Given the description of an element on the screen output the (x, y) to click on. 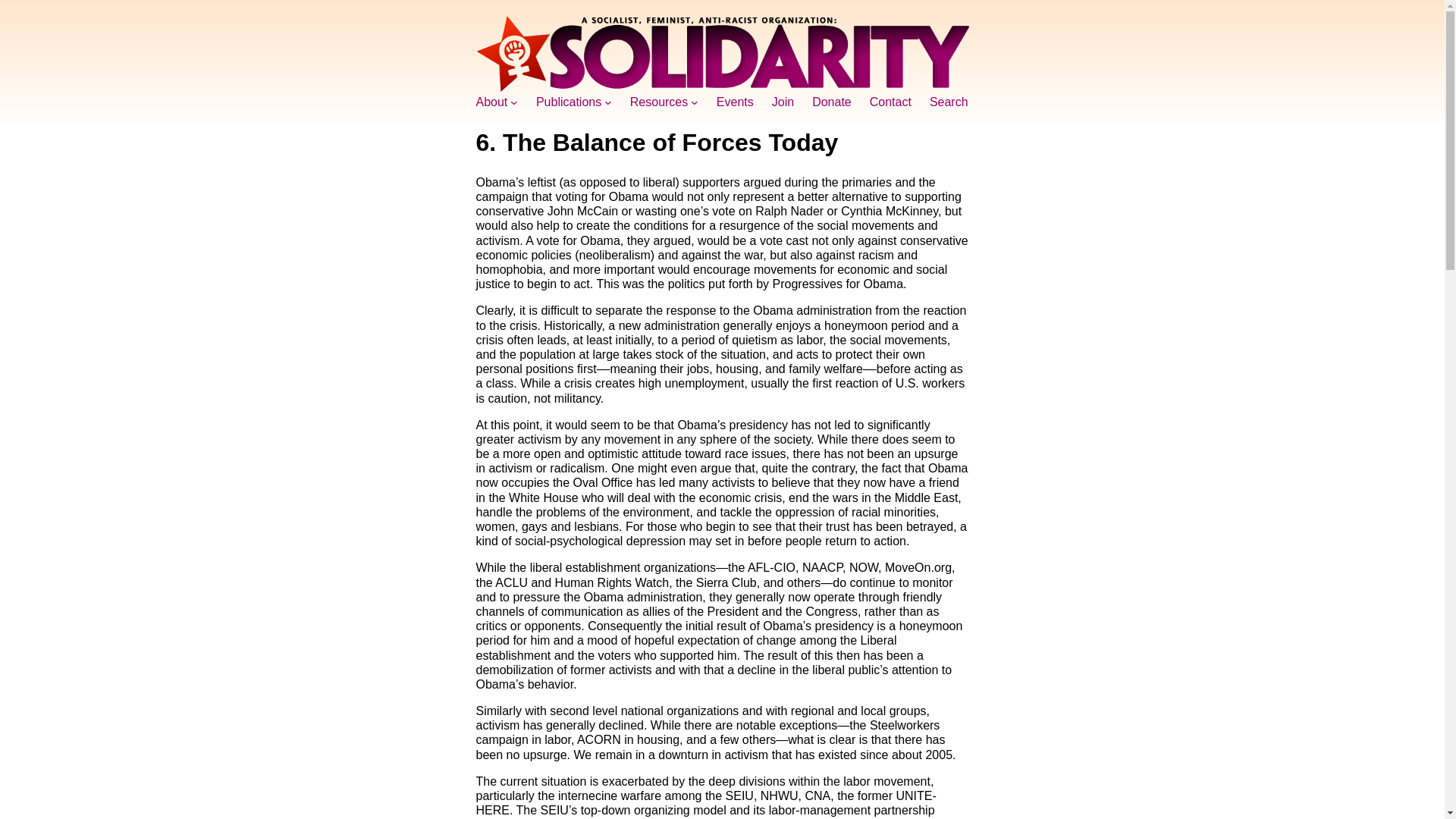
Donate (831, 101)
Contact (890, 101)
Publications (568, 101)
Events (735, 101)
Resources (658, 101)
Join (782, 101)
About (492, 101)
Search (949, 101)
